Given the description of an element on the screen output the (x, y) to click on. 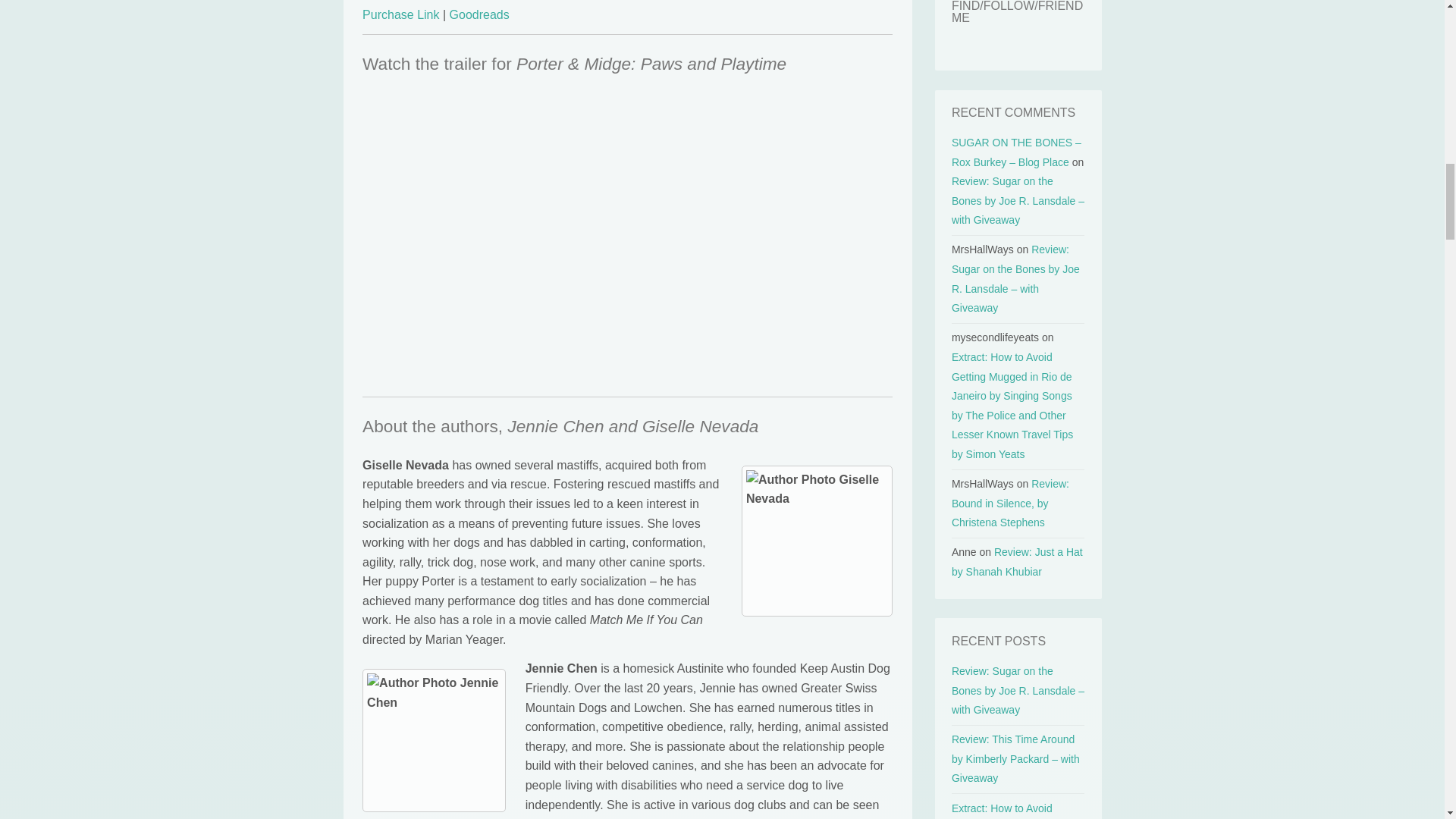
Purchase Link (402, 14)
Goodreads (479, 14)
